Given the description of an element on the screen output the (x, y) to click on. 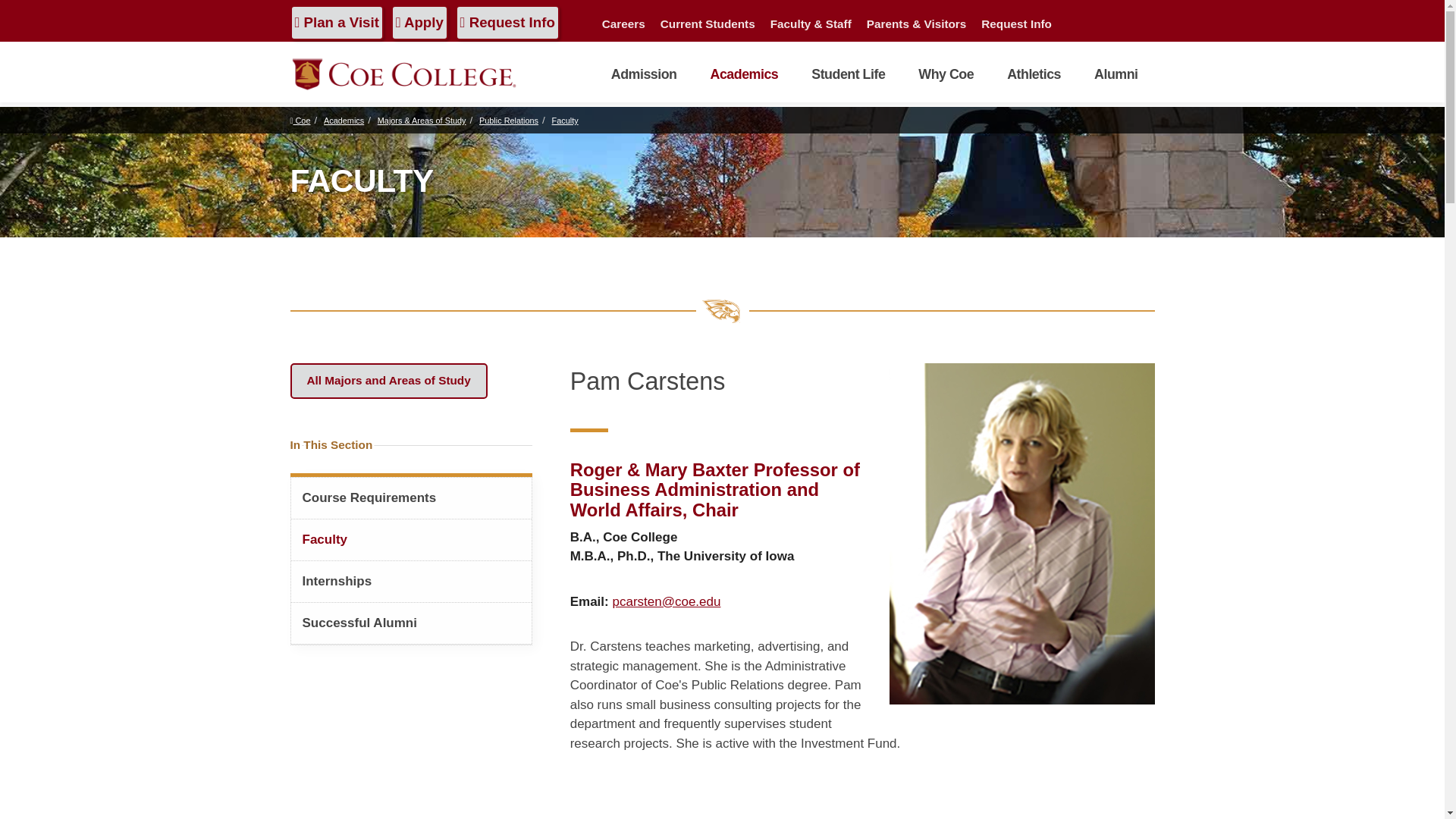
Academics (743, 73)
Student Life (847, 73)
Plan a Visit (335, 22)
Admission (644, 73)
Apply (419, 22)
Request Info (507, 22)
